Given the description of an element on the screen output the (x, y) to click on. 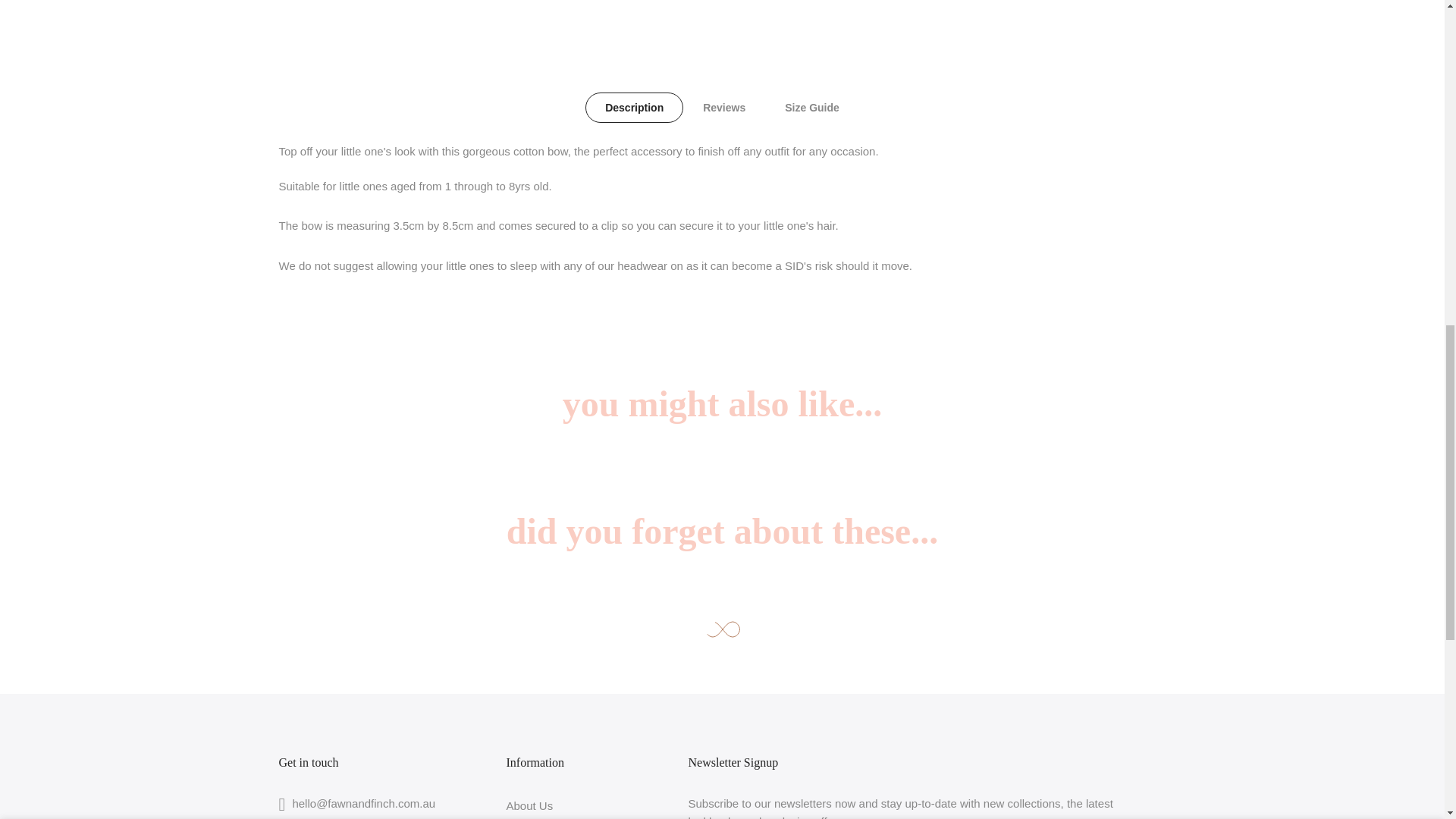
1 (1001, 35)
